Given the description of an element on the screen output the (x, y) to click on. 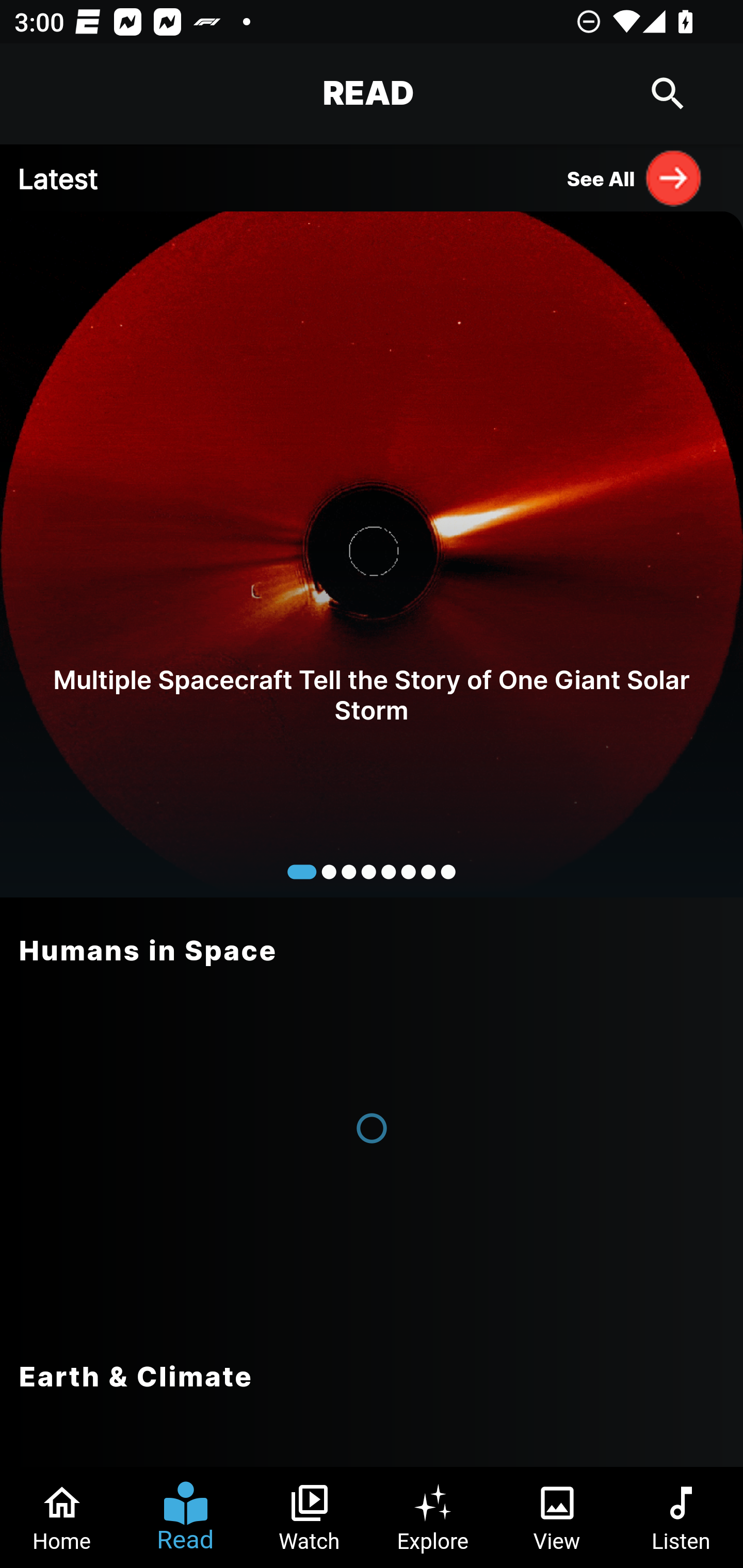
See All (634, 177)
Home
Tab 1 of 6 (62, 1517)
Read
Tab 2 of 6 (185, 1517)
Watch
Tab 3 of 6 (309, 1517)
Explore
Tab 4 of 6 (433, 1517)
View
Tab 5 of 6 (556, 1517)
Listen
Tab 6 of 6 (680, 1517)
